Given the description of an element on the screen output the (x, y) to click on. 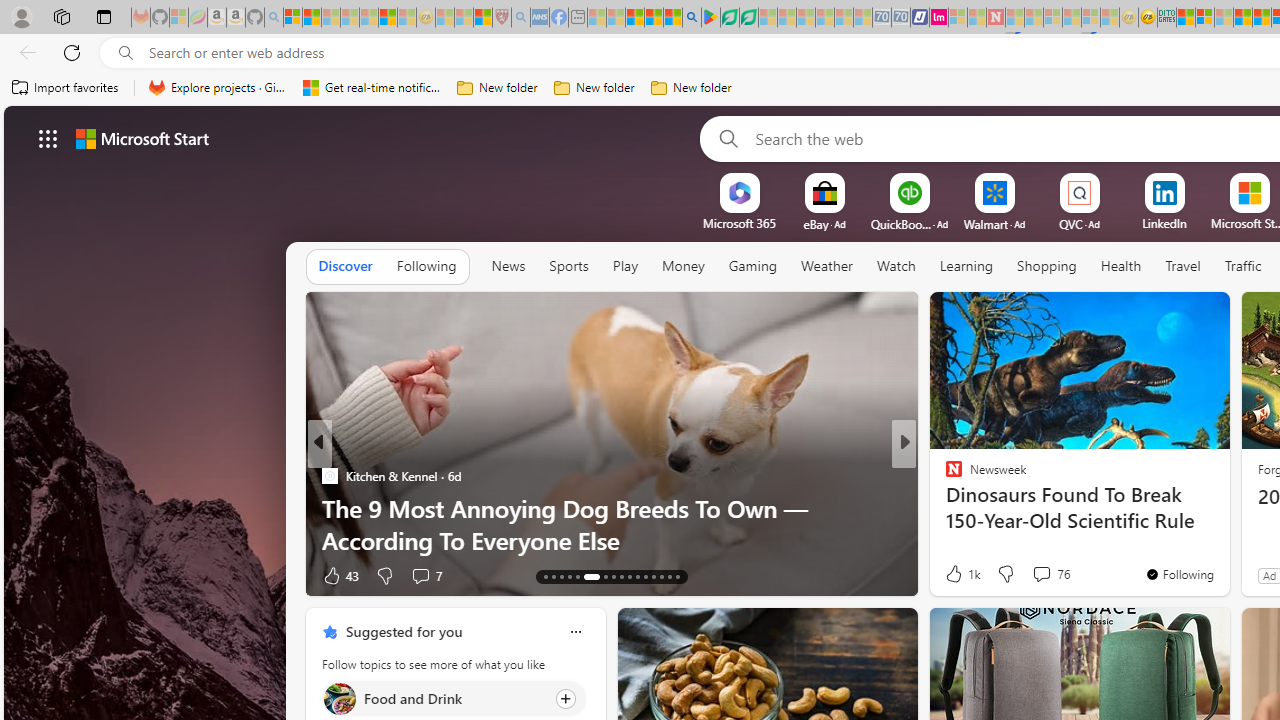
View comments 4 Comment (1036, 575)
View comments 257 Comment (1054, 574)
AutomationID: tab-25 (652, 576)
The Register (944, 475)
AutomationID: tab-14 (553, 576)
View comments 4 Comment (1041, 574)
